Given the description of an element on the screen output the (x, y) to click on. 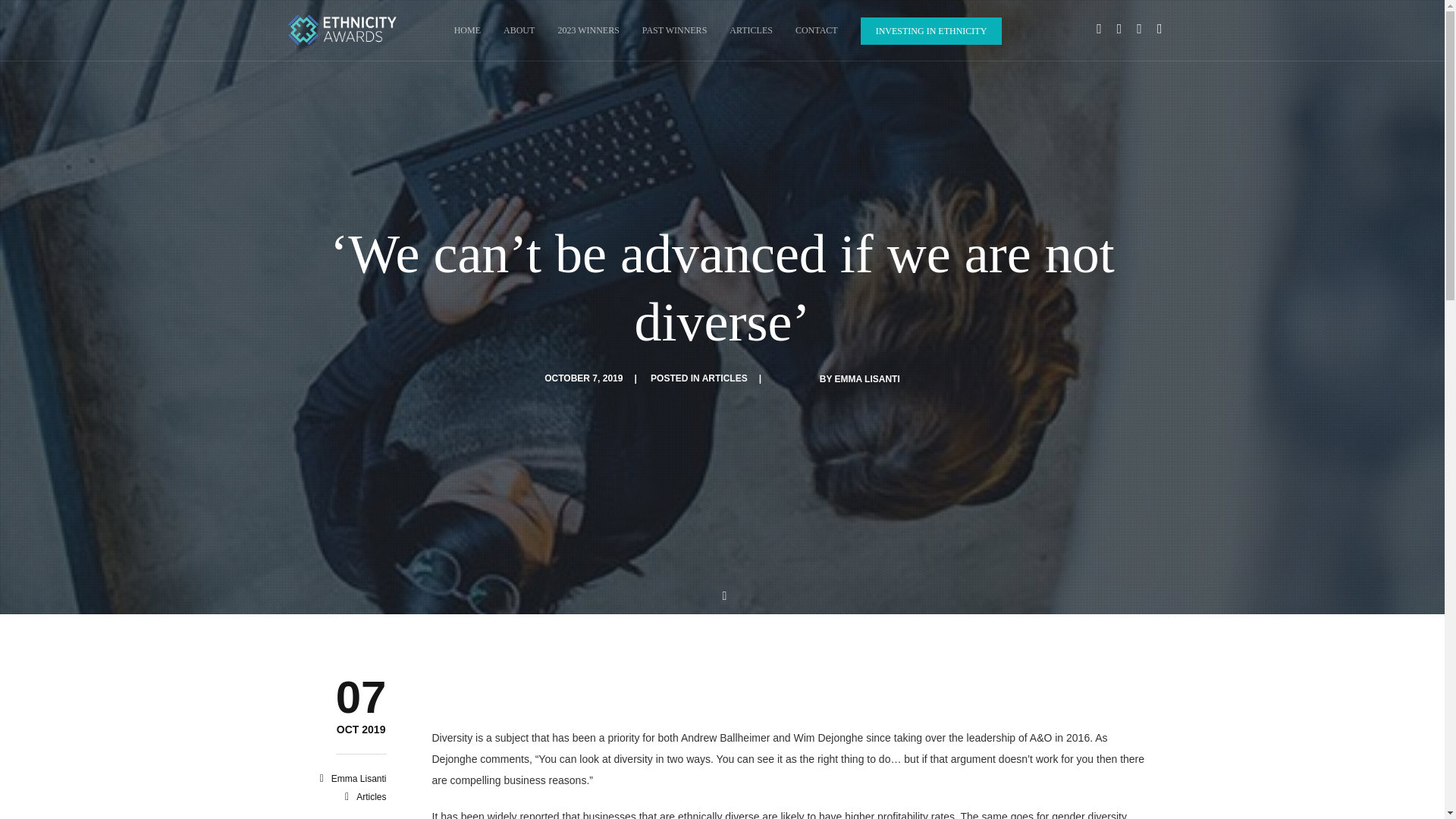
INVESTING IN ETHNICITY (931, 31)
Page 6 (789, 773)
PAST WINNERS (674, 30)
2023 WINNERS (587, 30)
Posts by Emma Lisanti (359, 778)
View all posts in articles (724, 378)
